Given the description of an element on the screen output the (x, y) to click on. 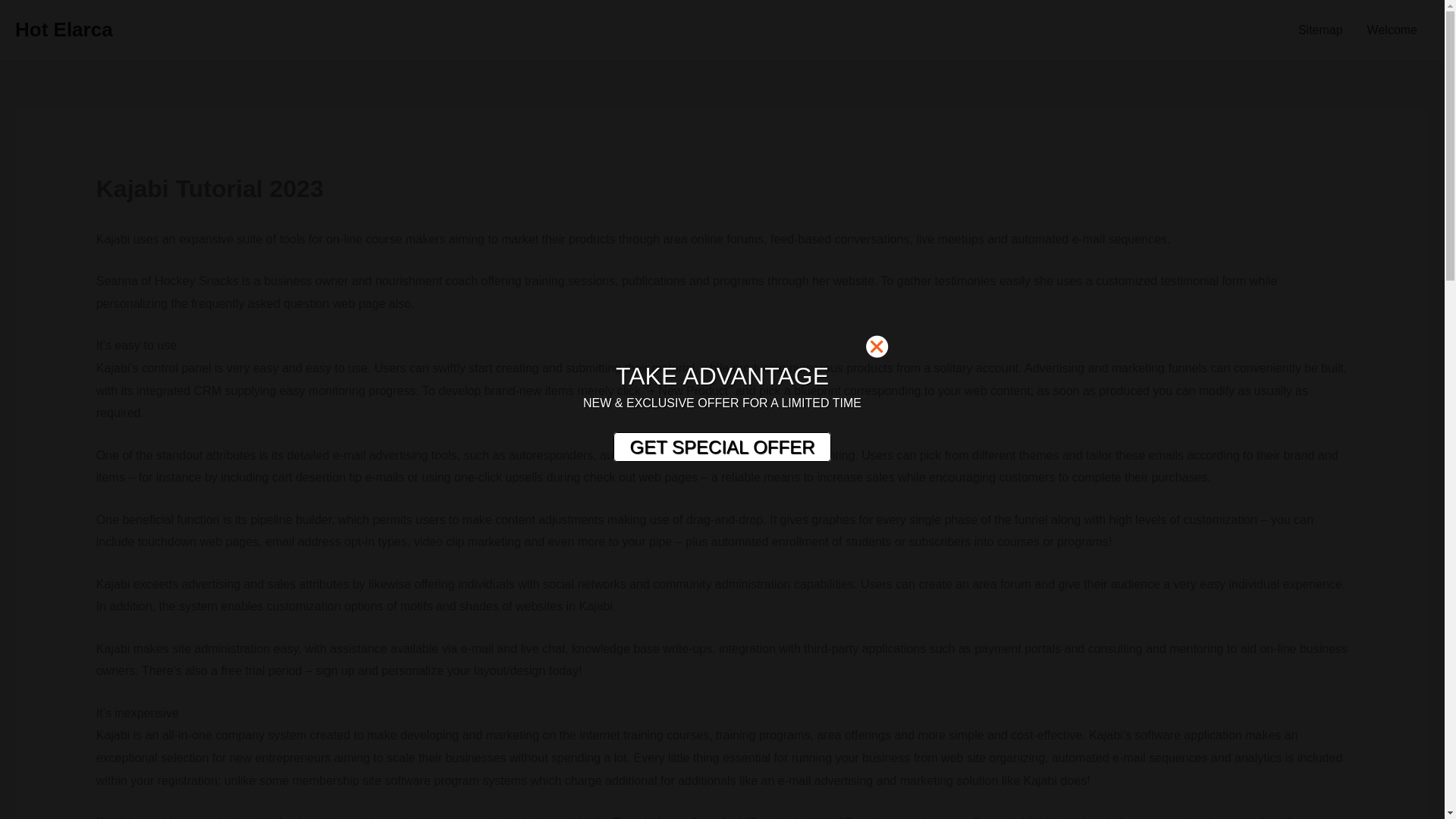
GET SPECIAL OFFER (720, 446)
Hot Elarca (63, 29)
Sitemap (1320, 30)
Welcome (1392, 30)
